Given the description of an element on the screen output the (x, y) to click on. 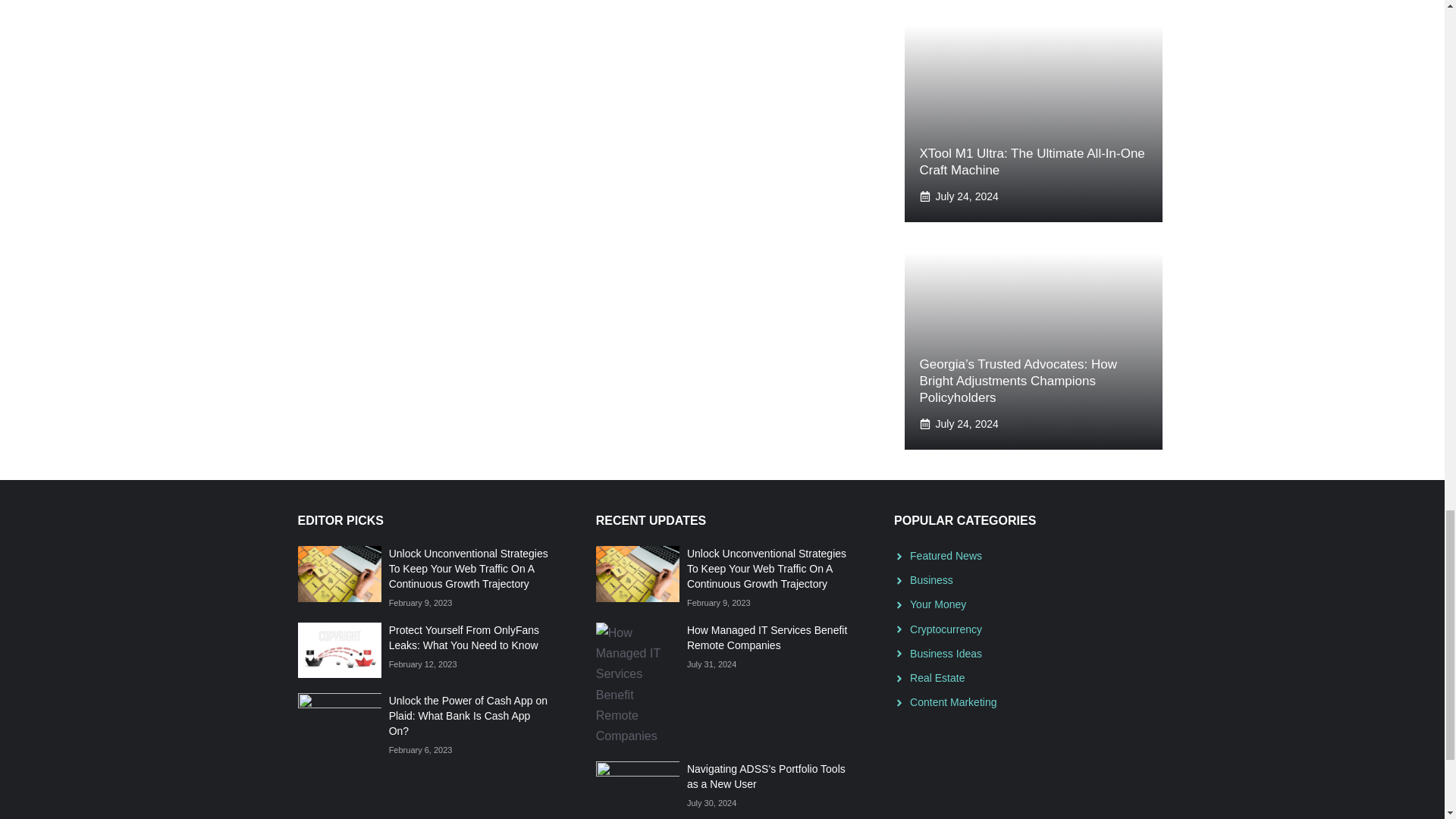
Business (931, 580)
How Managed IT Services Benefit Remote Companies (767, 637)
Featured News (945, 555)
Protect Yourself From OnlyFans Leaks: What You Need to Know (463, 637)
XTool M1 Ultra: The Ultimate All-In-One Craft Machine (1031, 161)
